Given the description of an element on the screen output the (x, y) to click on. 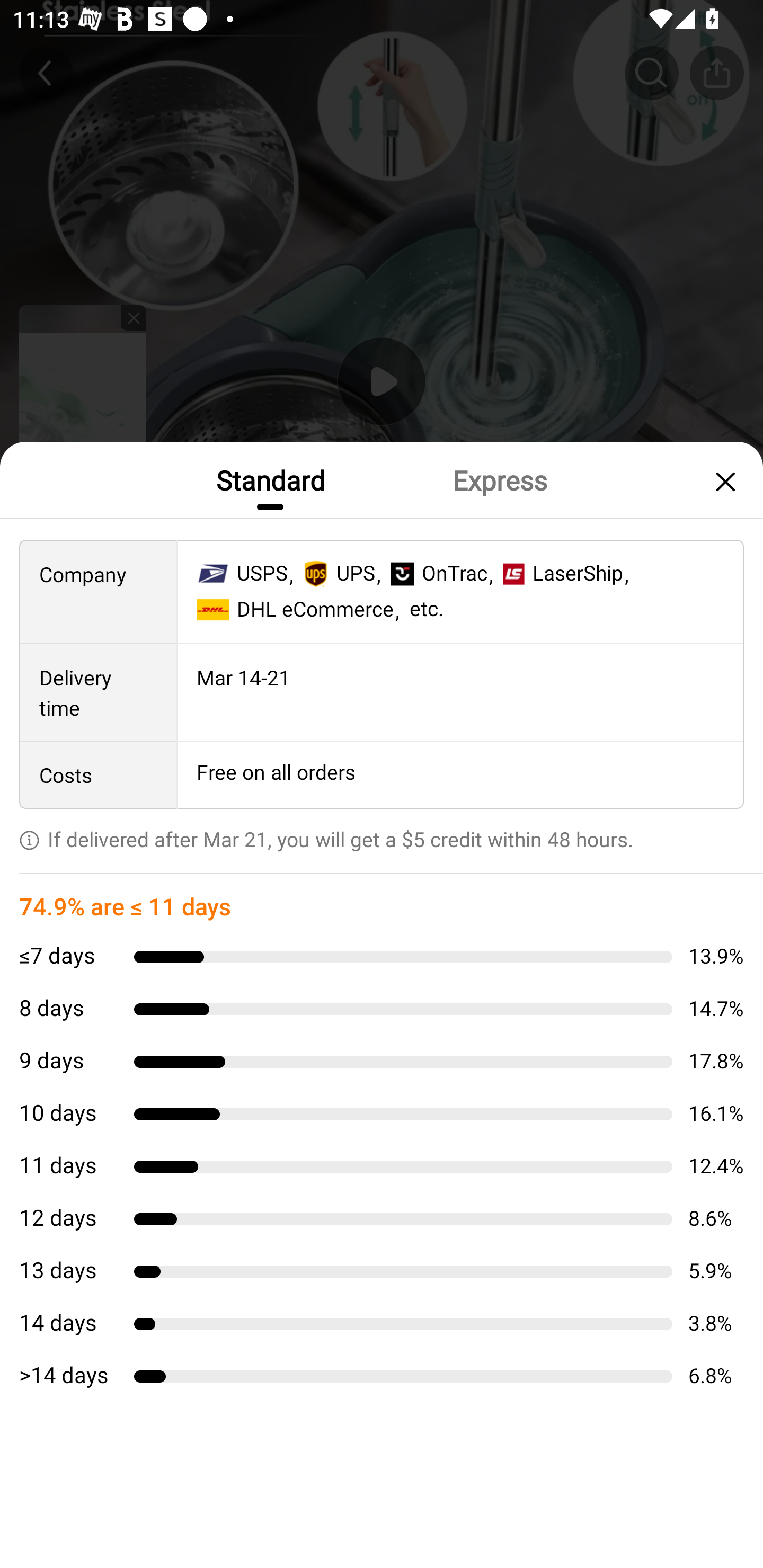
Standard (269, 479)
Express (499, 479)
close (723, 481)
Free shipping on all orders Exclusive offer (381, 836)
￼ ￼ ￼ 4 interest-free biweekly installments ￼ (381, 902)
